Given the description of an element on the screen output the (x, y) to click on. 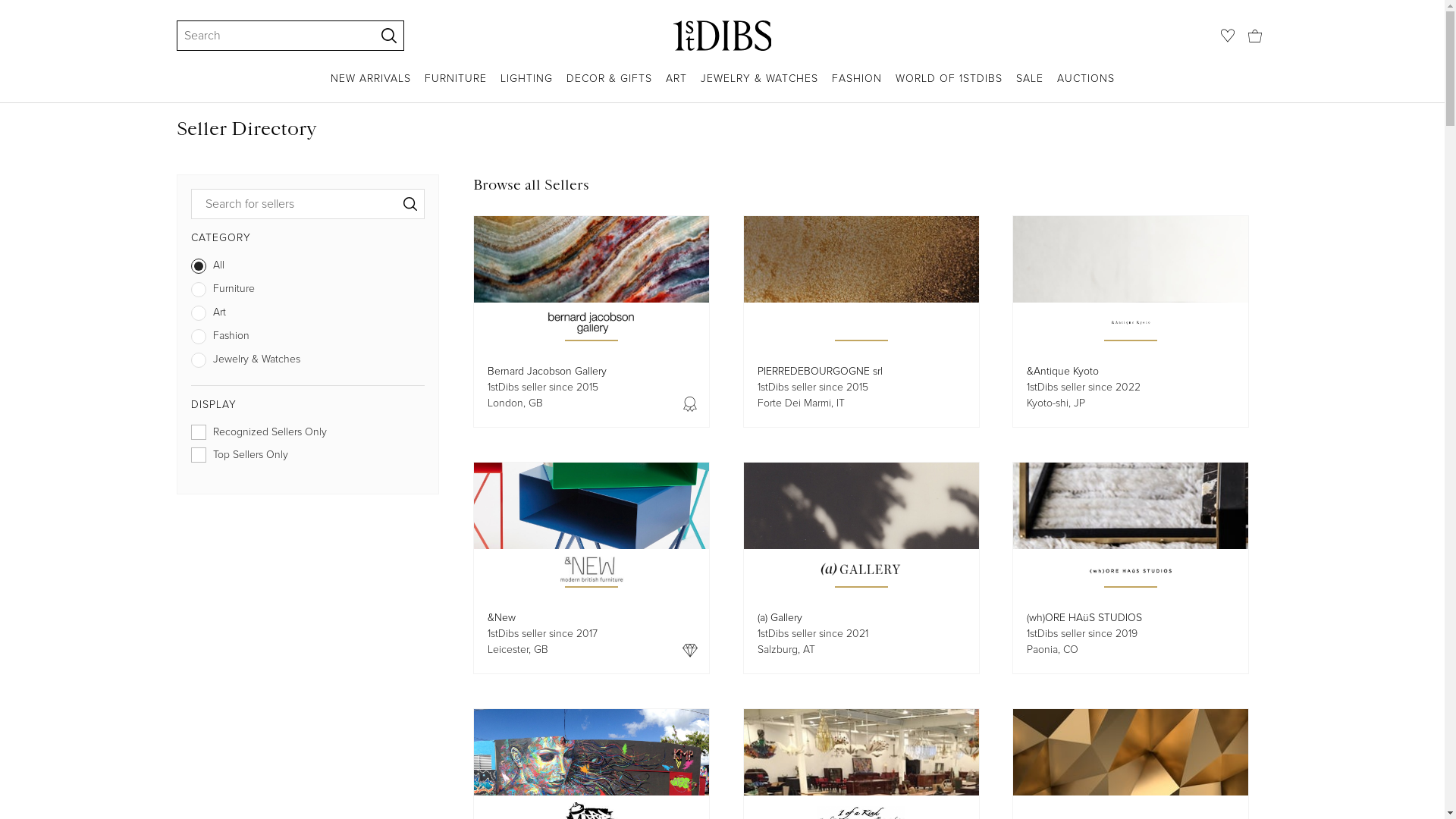
ART Element type: text (676, 86)
WORLD OF 1STDIBS Element type: text (947, 86)
Fashion Element type: text (308, 339)
Jewelry & Watches Element type: text (308, 362)
&Antique Kyoto Element type: text (1062, 370)
DECOR & GIFTS Element type: text (608, 86)
NEW ARRIVALS Element type: text (370, 86)
SALE Element type: text (1029, 86)
FURNITURE Element type: text (455, 86)
Recognized Sellers Only Element type: text (308, 434)
AUCTIONS Element type: text (1085, 86)
Search Element type: hover (268, 35)
All Element type: text (308, 268)
(a) Gallery Element type: text (778, 617)
LIGHTING Element type: text (526, 86)
SKIP TO MAIN CONTENT Element type: text (6, 6)
PIERREDEBOURGOGNE srl Element type: text (818, 370)
FASHION Element type: text (856, 86)
Art Element type: text (308, 315)
Bernard Jacobson Gallery Element type: text (546, 370)
Top Sellers Only Element type: text (308, 457)
Furniture Element type: text (308, 292)
&New Element type: text (501, 617)
JEWELRY & WATCHES Element type: text (759, 86)
